Given the description of an element on the screen output the (x, y) to click on. 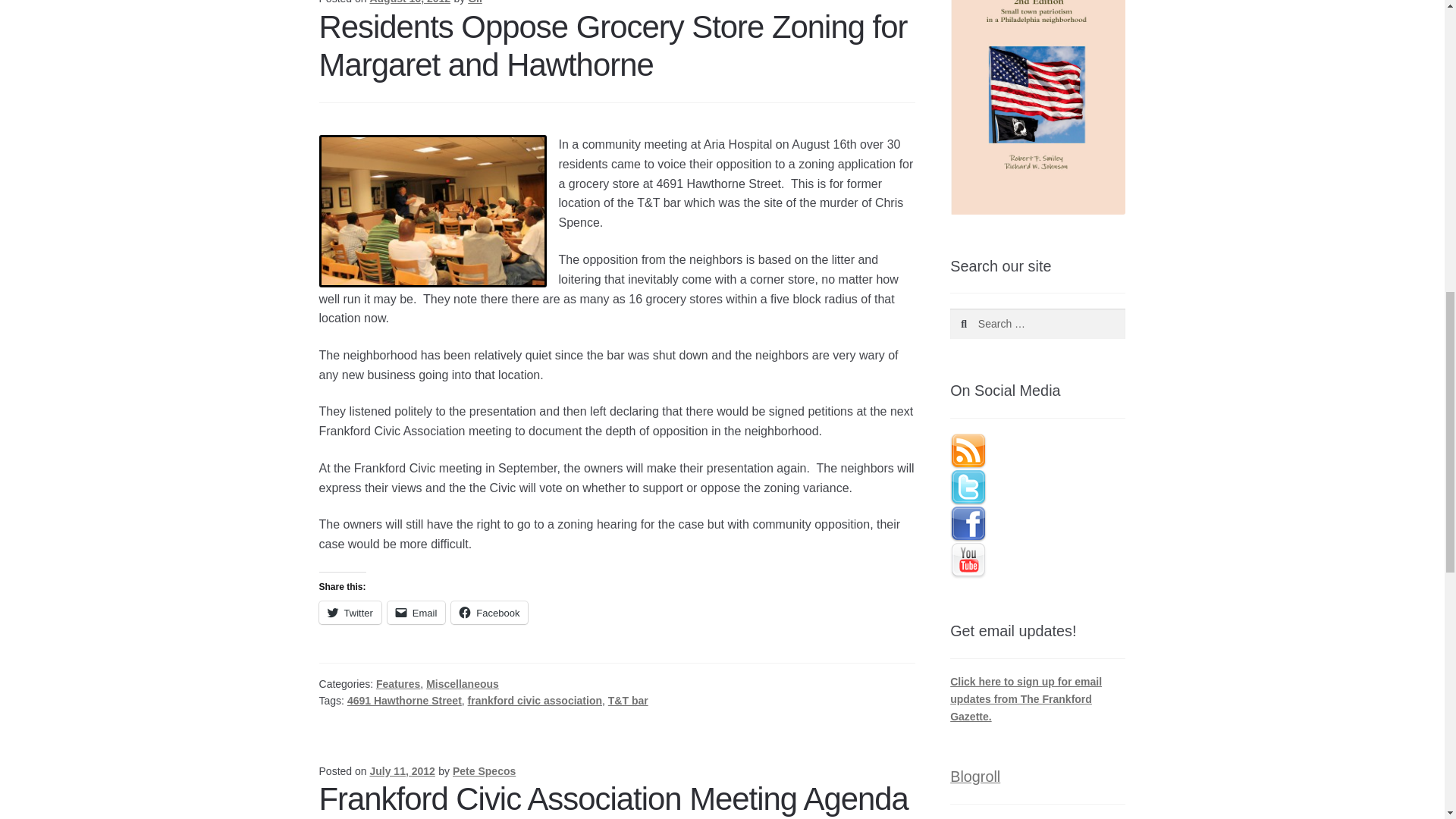
Click to email a link to a friend (416, 612)
Click to share on Twitter (349, 612)
Click to share on Facebook (489, 612)
